Given the description of an element on the screen output the (x, y) to click on. 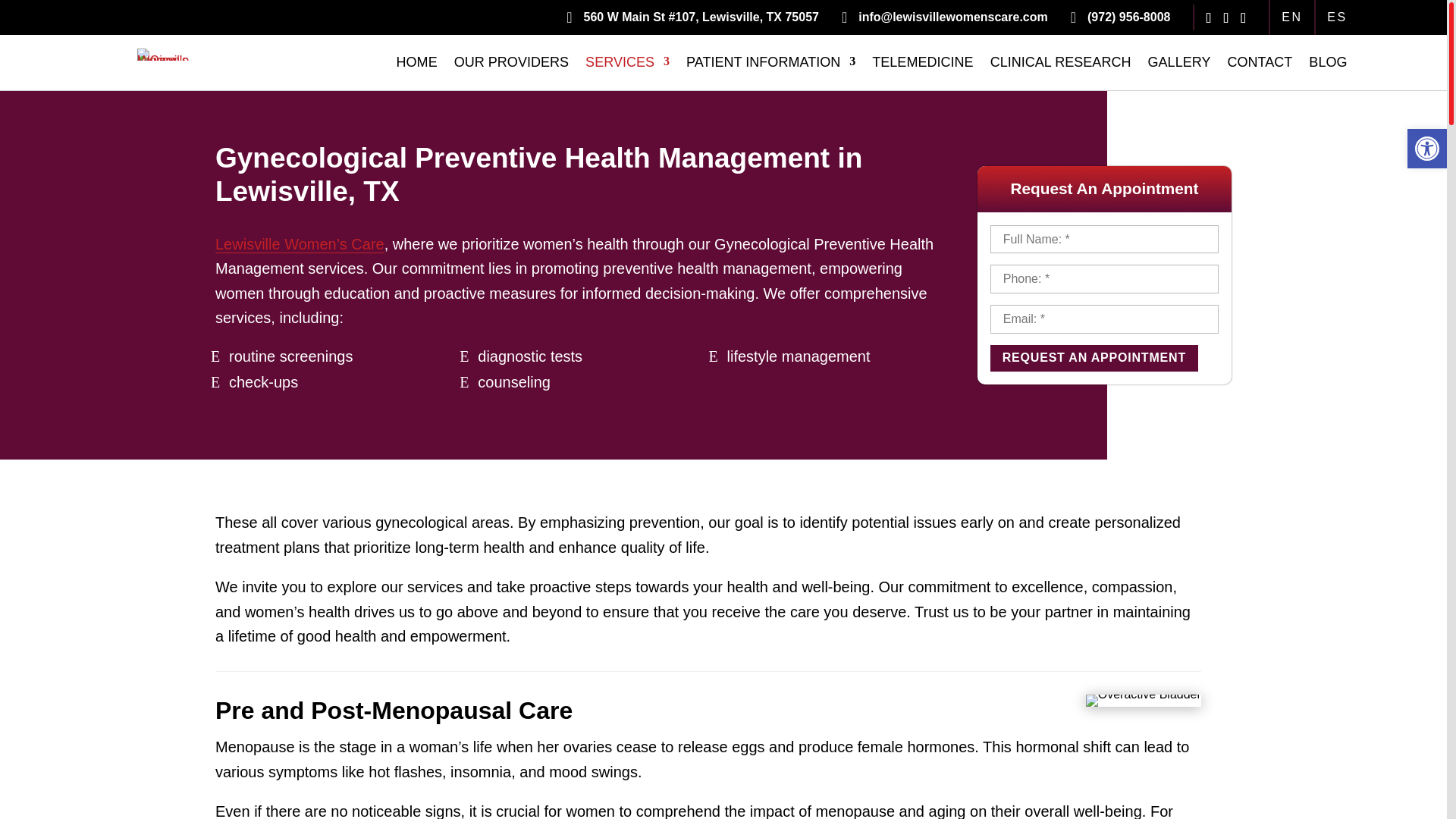
CONTACT (1259, 65)
BLOG (1327, 65)
EN (1291, 17)
Request An Appointment (1094, 358)
ES (1330, 17)
GALLERY (1179, 65)
PATIENT INFORMATION (770, 65)
OUR PROVIDERS (511, 65)
SERVICES (627, 65)
HOME (417, 65)
